Given the description of an element on the screen output the (x, y) to click on. 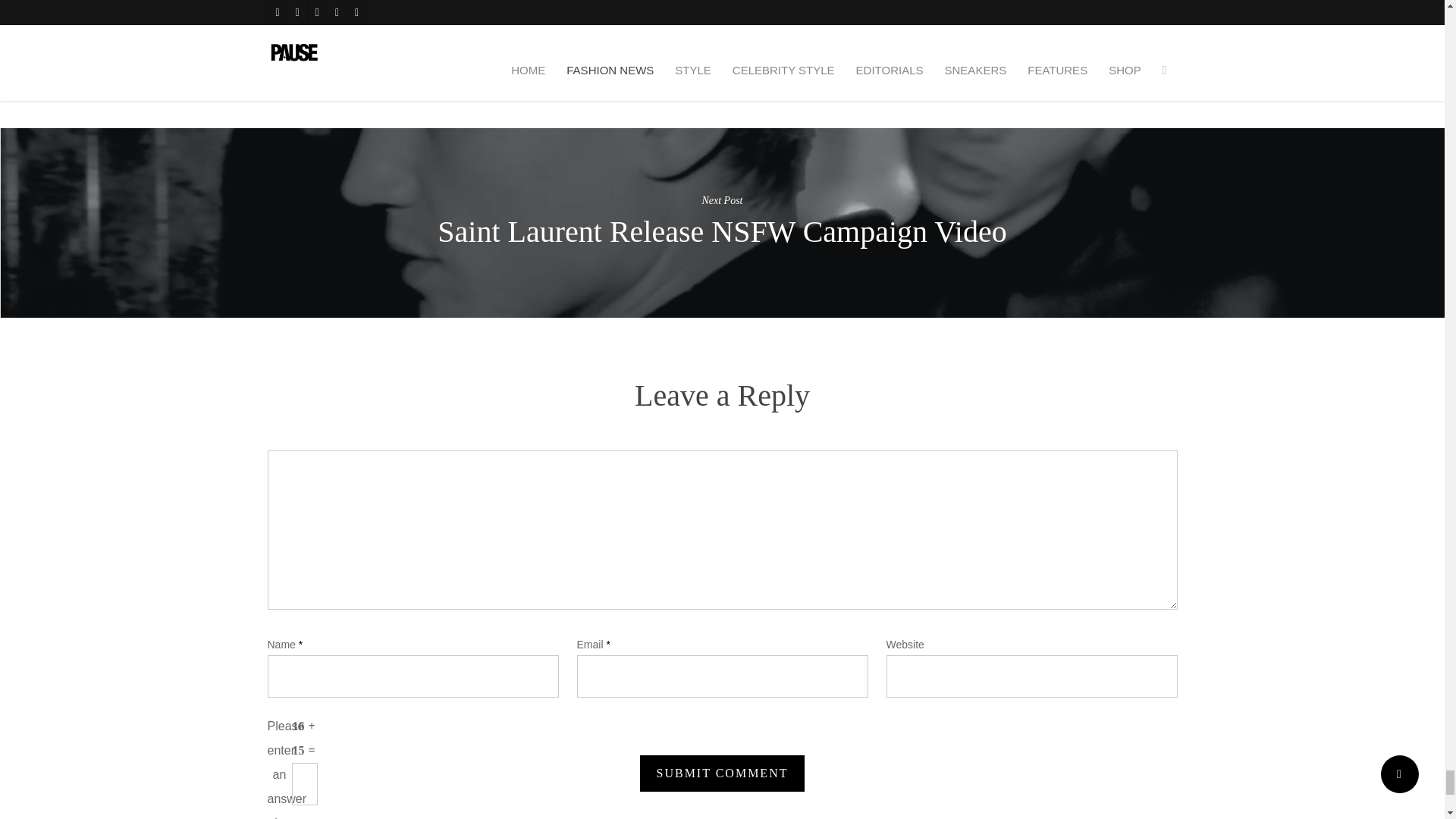
Submit Comment (722, 773)
